Given the description of an element on the screen output the (x, y) to click on. 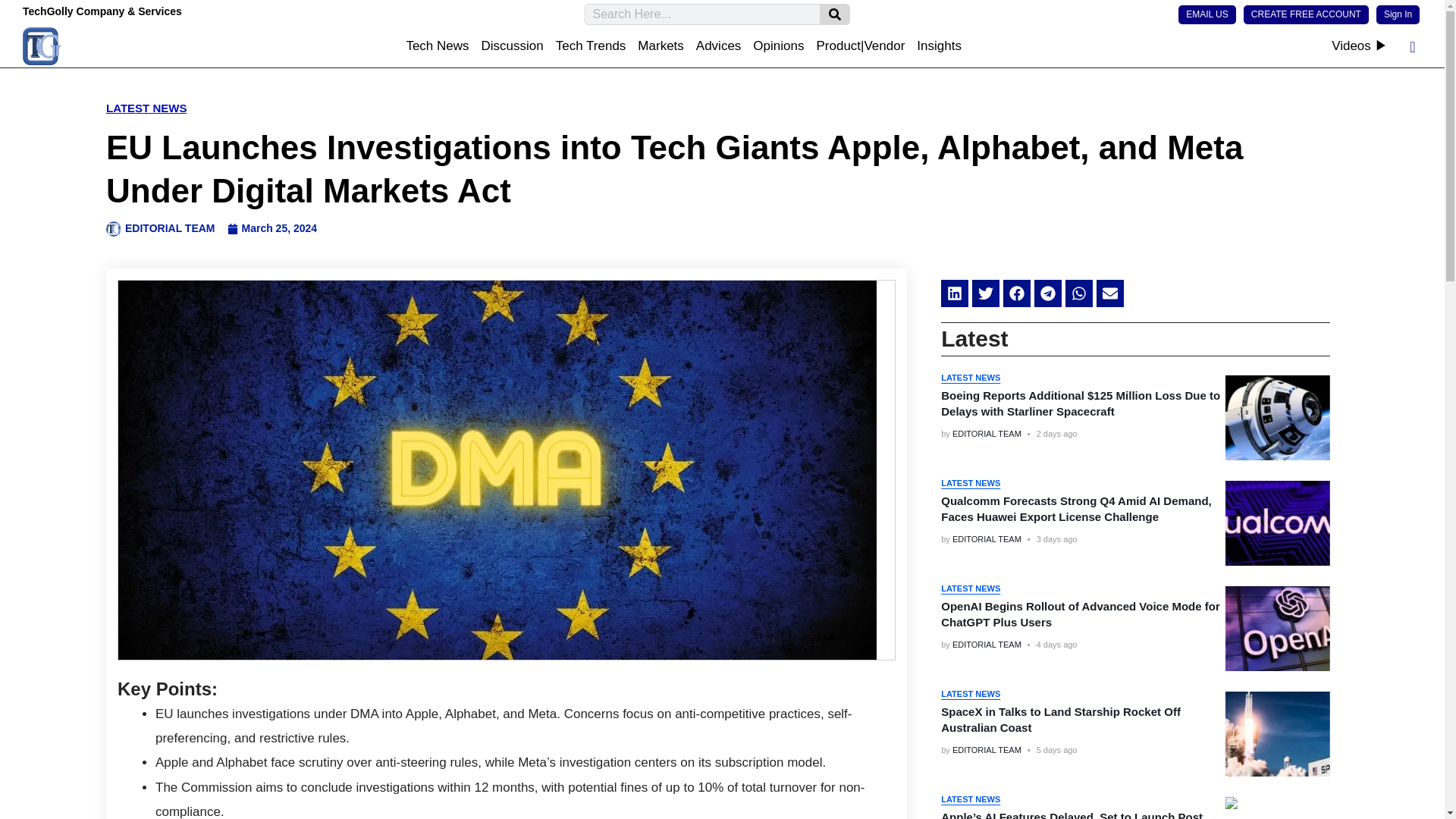
Advices (719, 45)
Discussion (513, 45)
LATEST NEWS (970, 482)
Markets (659, 45)
Tech Trends (590, 45)
techgolly-logo (42, 46)
Sign In (1397, 13)
March 25, 2024 (272, 229)
CREATE FREE ACCOUNT (1305, 13)
LATEST NEWS (970, 377)
EMAIL US (1206, 13)
EDITORIAL TEAM (987, 433)
LATEST NEWS (146, 107)
EDITORIAL TEAM (160, 229)
